Given the description of an element on the screen output the (x, y) to click on. 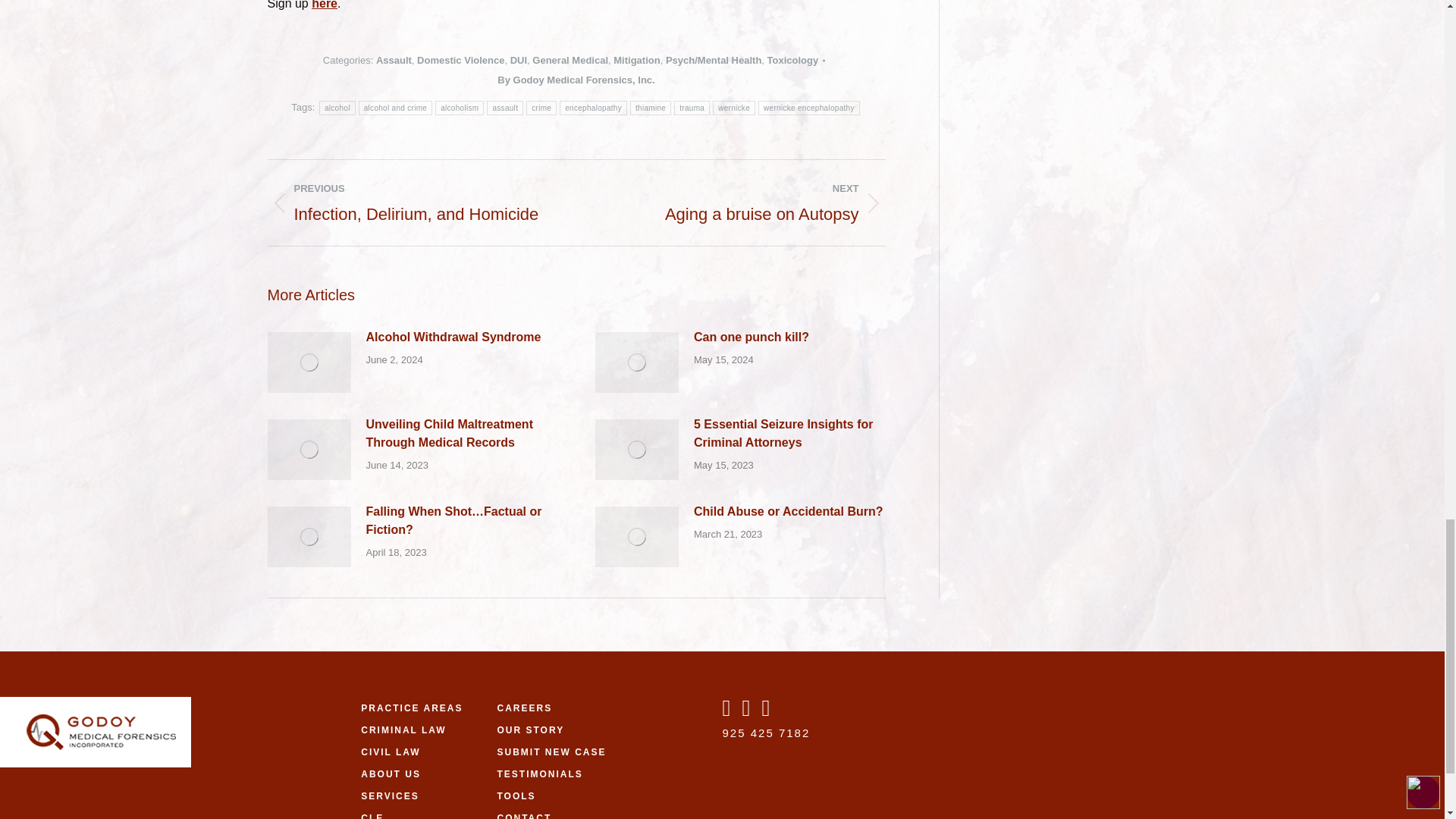
View all posts by Godoy Medical Forensics, Inc. (575, 80)
